Given the description of an element on the screen output the (x, y) to click on. 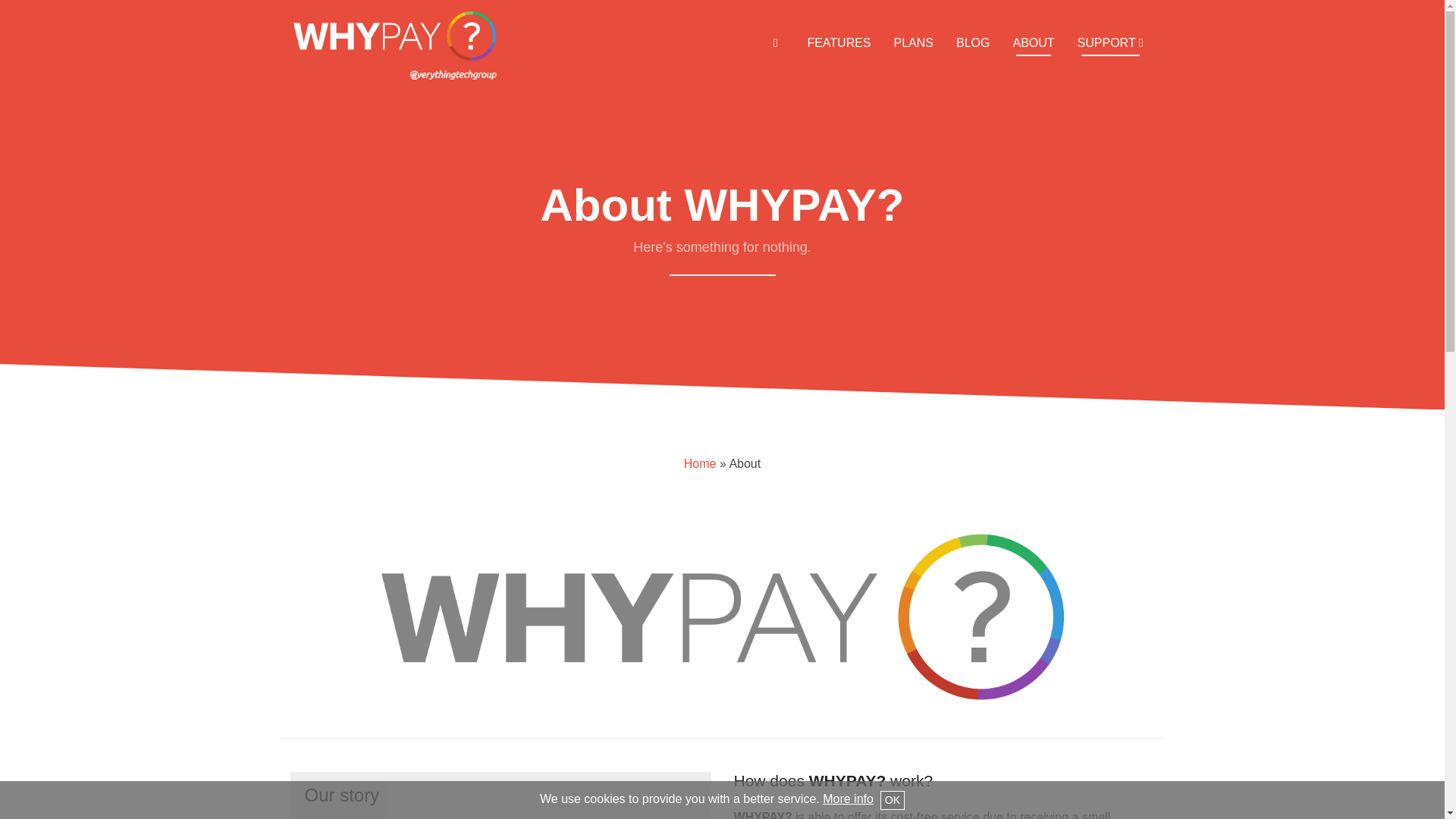
Home (700, 463)
FEATURES (838, 42)
PLANS (913, 42)
ABOUT (1033, 42)
SUPPORT (1109, 42)
